Given the description of an element on the screen output the (x, y) to click on. 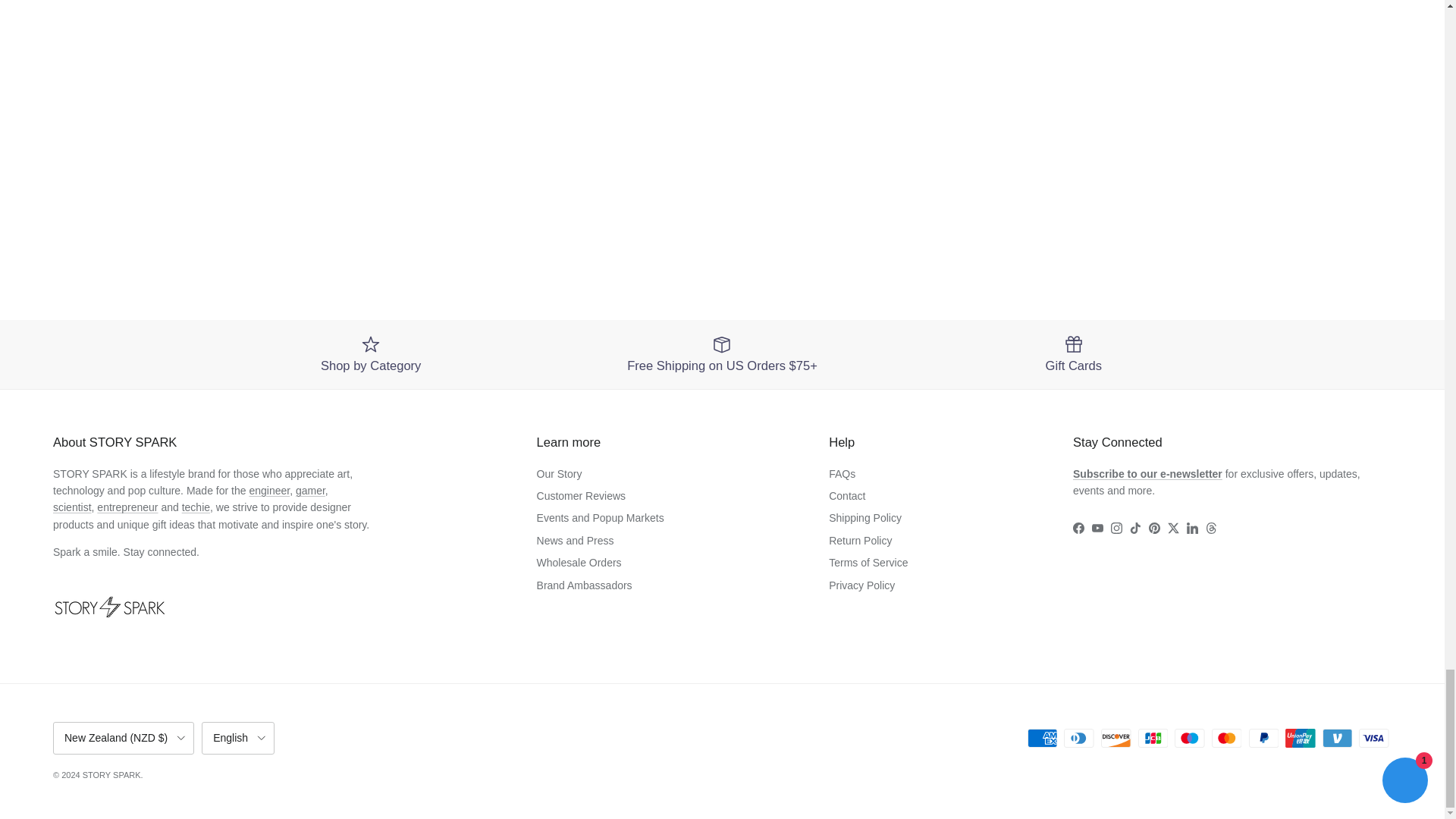
Discover (1115, 737)
American Express (1042, 737)
Diners Club (1078, 737)
JCB (1152, 737)
Maestro (1189, 737)
